Given the description of an element on the screen output the (x, y) to click on. 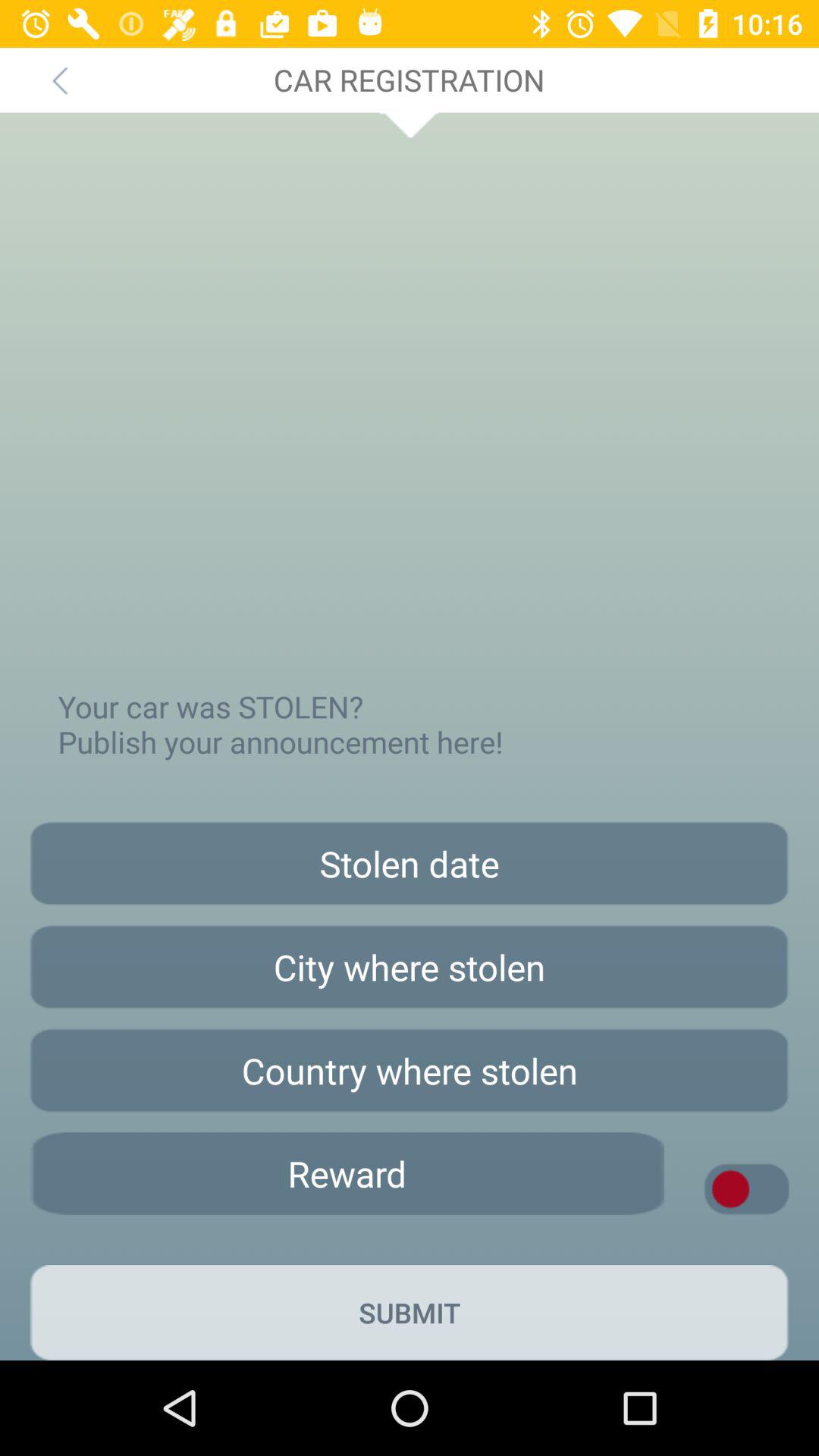
enter reward (347, 1173)
